Given the description of an element on the screen output the (x, y) to click on. 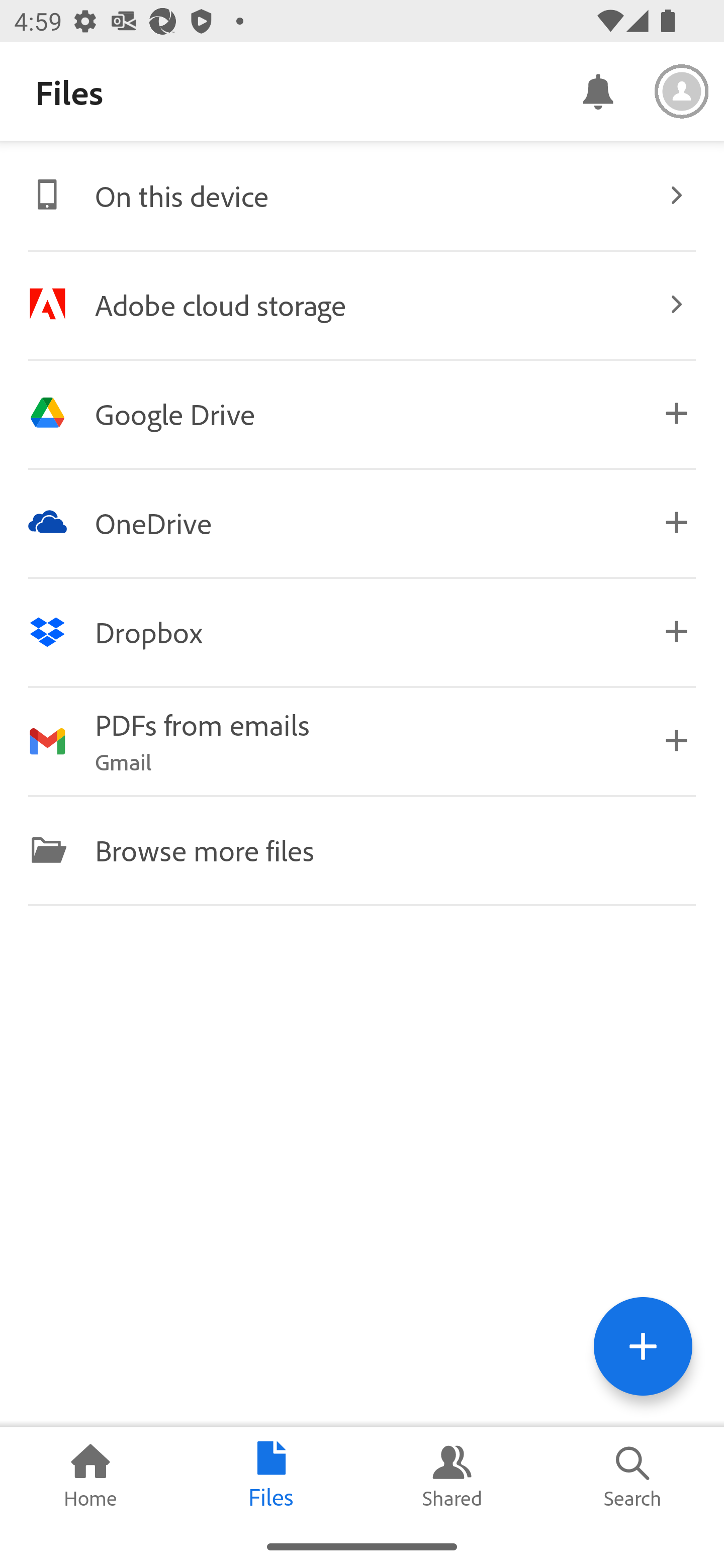
Notifications (597, 90)
Settings (681, 91)
Image On this device (362, 195)
Image Adobe cloud storage (362, 304)
Image Google Drive (362, 413)
Image OneDrive (362, 522)
Image Dropbox (362, 631)
Image PDFs from emails Gmail (362, 740)
Image Browse more files (362, 849)
Tools (642, 1345)
Home (90, 1475)
Files (271, 1475)
Shared (452, 1475)
Search (633, 1475)
